Given the description of an element on the screen output the (x, y) to click on. 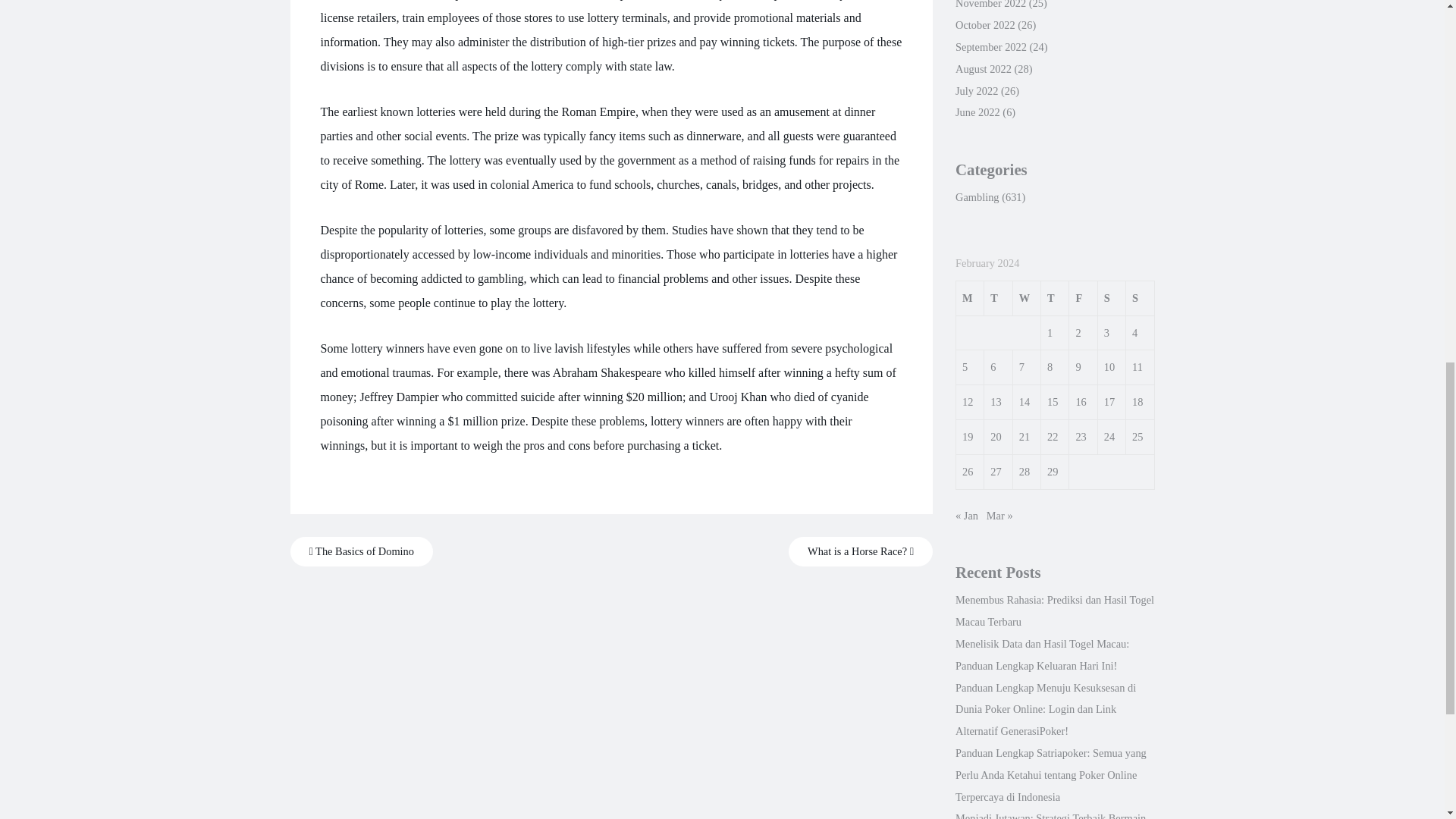
September 2022 (990, 46)
June 2022 (977, 111)
The Basics of Domino (360, 551)
What is a Horse Race? (861, 551)
November 2022 (990, 4)
July 2022 (976, 91)
Gambling (976, 196)
October 2022 (984, 24)
August 2022 (983, 69)
